Given the description of an element on the screen output the (x, y) to click on. 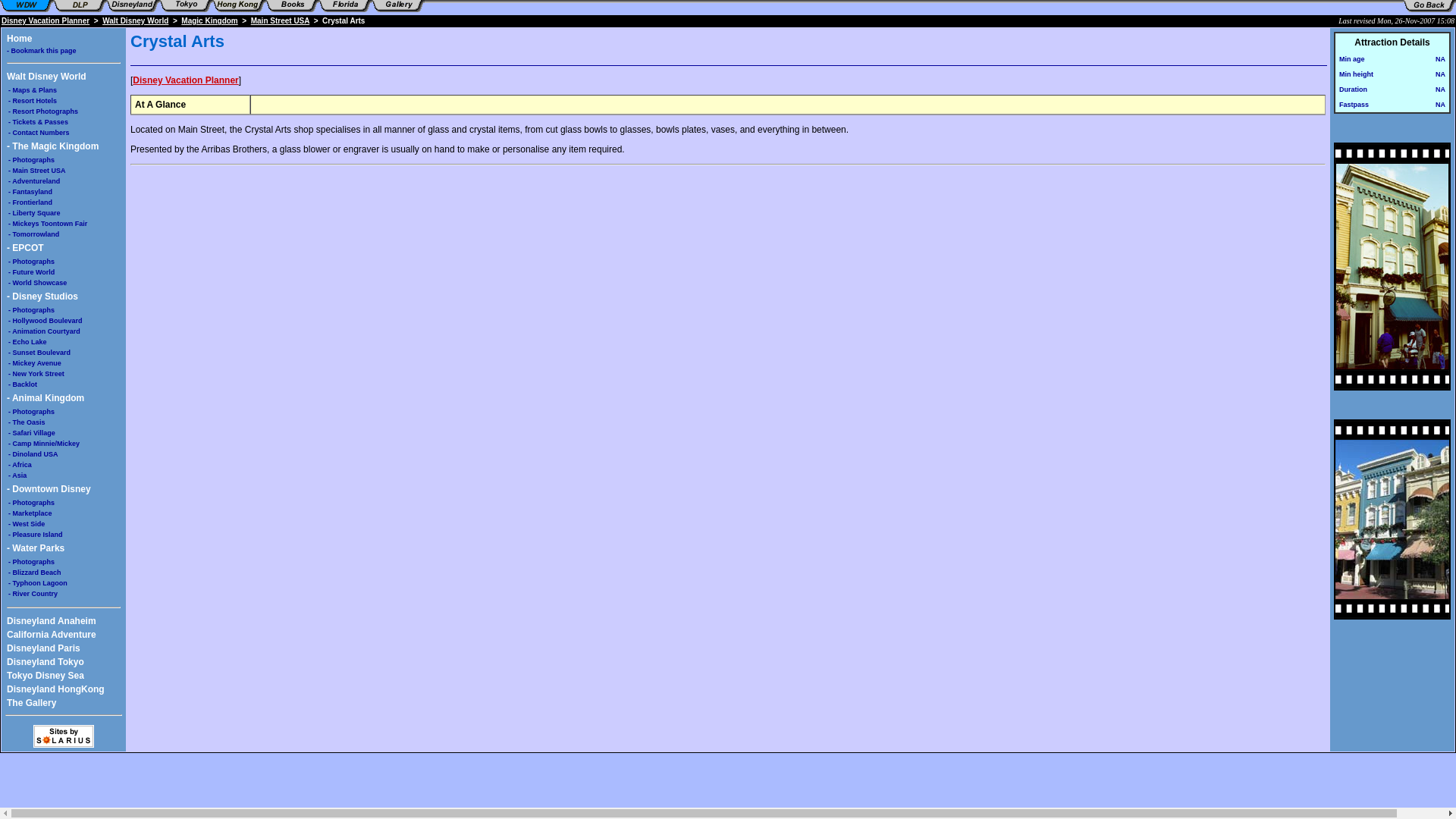
- EPCOT (25, 247)
- Main Street USA (36, 170)
- Disney Studios (42, 296)
- Photographs (31, 309)
- Contact Numbers (38, 132)
- Mickeys Toontown Fair (47, 223)
Main Street USA (279, 20)
Home (19, 38)
- Resort Photographs (43, 111)
- Photographs (31, 261)
